Given the description of an element on the screen output the (x, y) to click on. 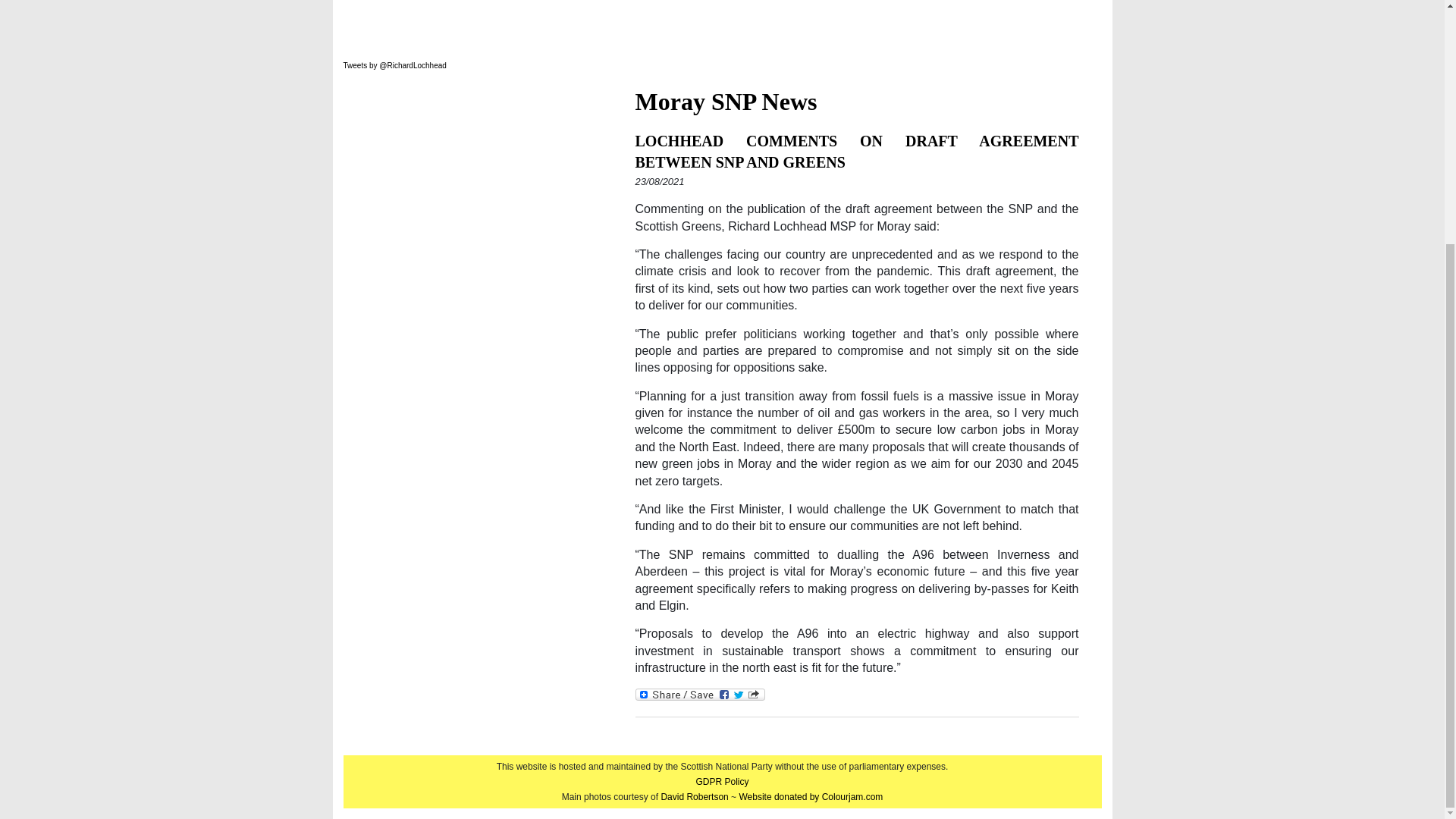
Website donated by Colourjam.com (810, 796)
LOCHHEAD COMMENTS ON DRAFT AGREEMENT BETWEEN SNP AND GREENS (856, 151)
GDPR Policy (721, 781)
David Robertson (694, 796)
